Given the description of an element on the screen output the (x, y) to click on. 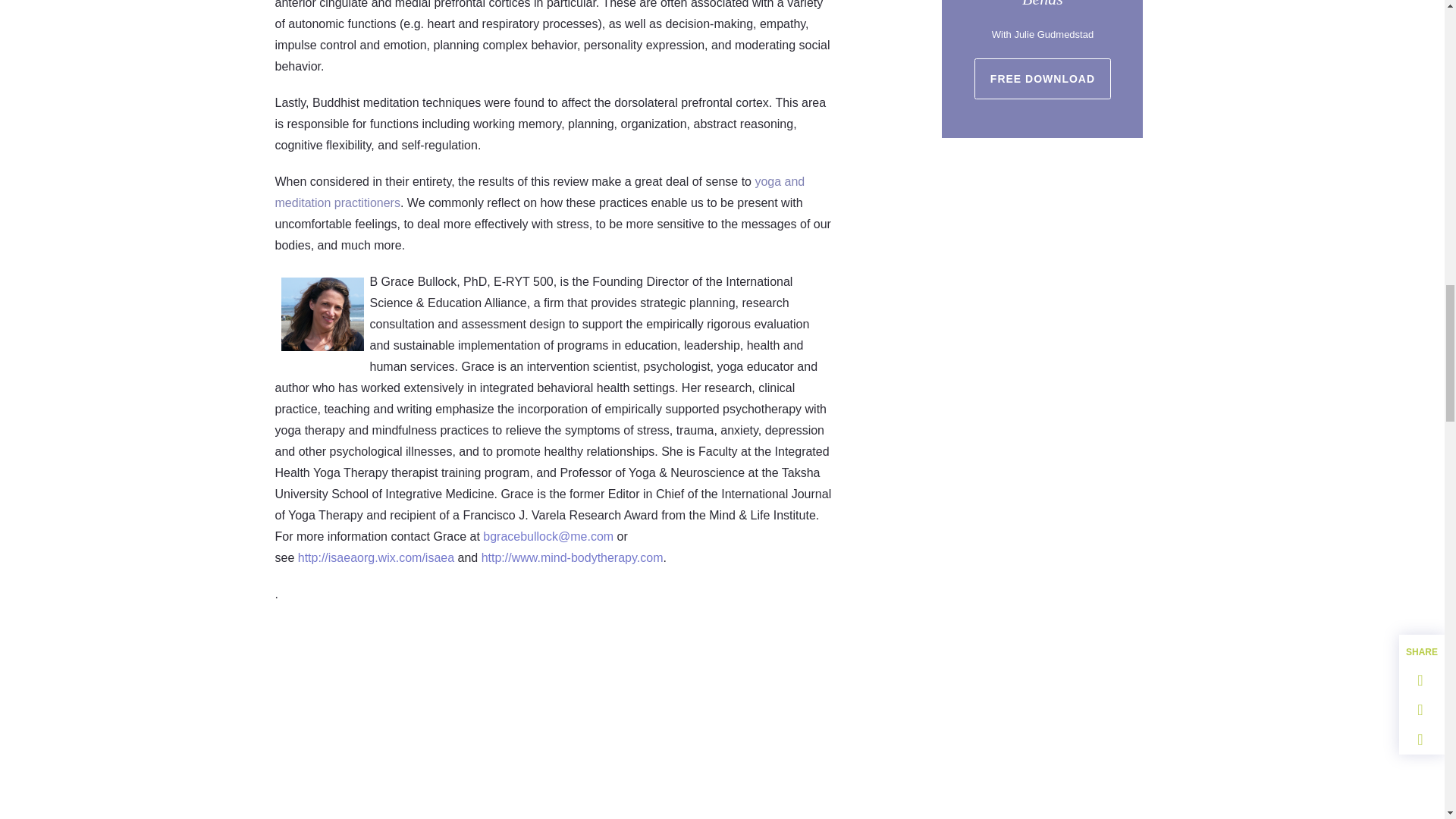
yoga and meditation practitioners (540, 192)
